Given the description of an element on the screen output the (x, y) to click on. 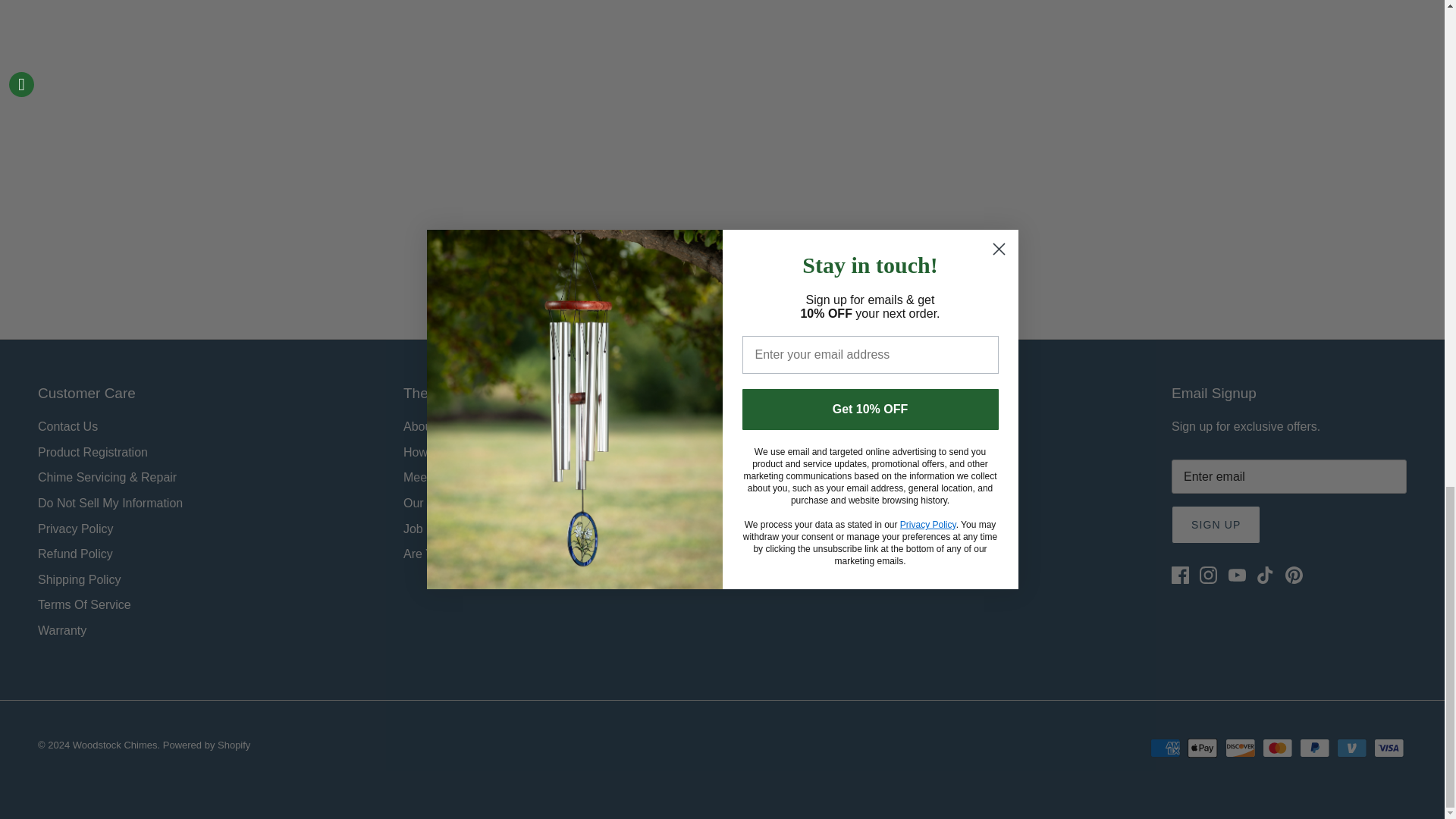
Facebook (1180, 574)
Discover (1240, 747)
Mastercard (1277, 747)
Apple Pay (1202, 747)
Pinterest (1294, 574)
PayPal (1314, 747)
Youtube (1237, 574)
Visa (1388, 747)
Venmo (1351, 747)
American Express (1165, 747)
Instagram (1208, 574)
